Given the description of an element on the screen output the (x, y) to click on. 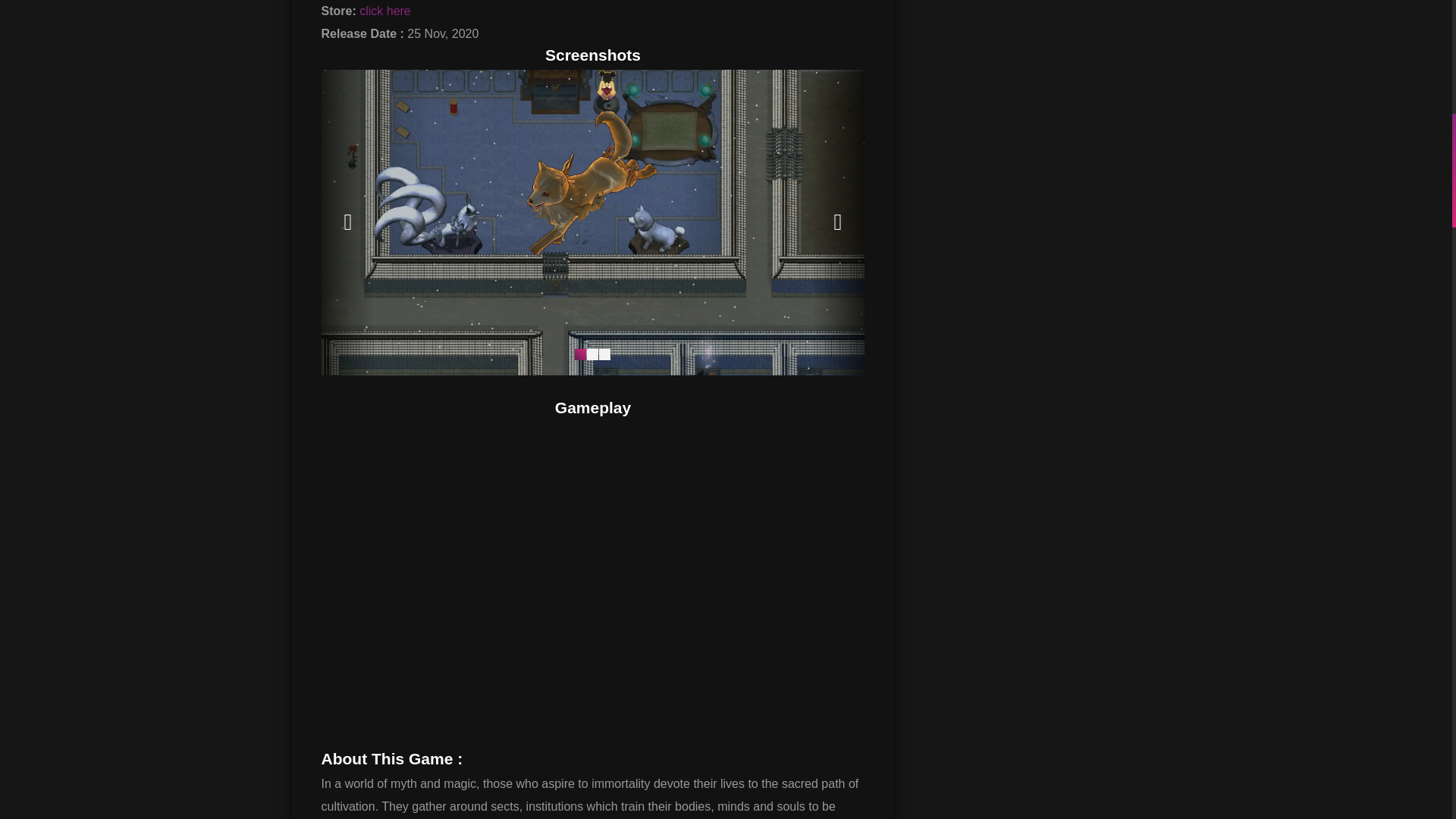
click here (384, 10)
